Given the description of an element on the screen output the (x, y) to click on. 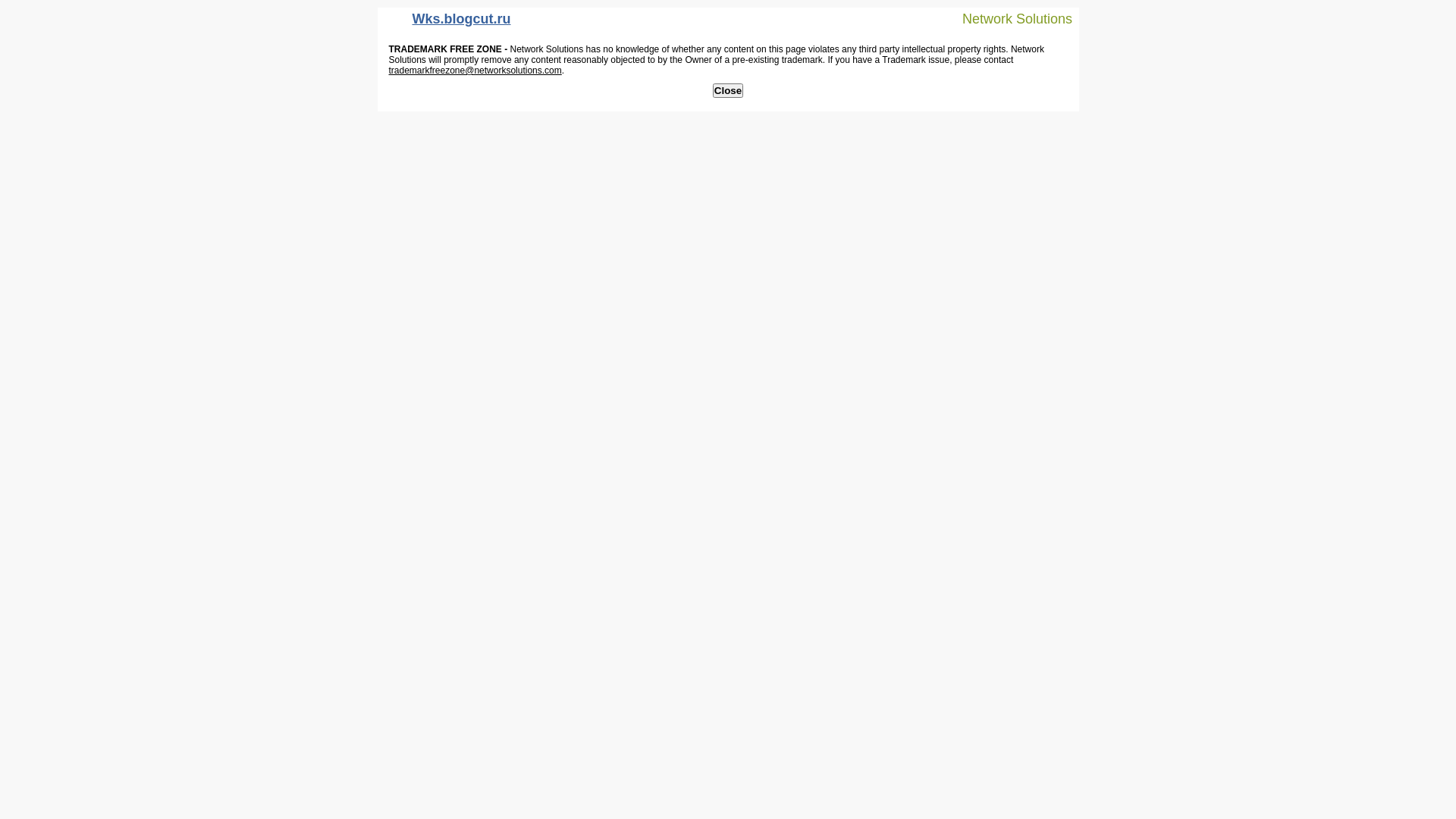
Network Solutions Element type: text (1007, 17)
trademarkfreezone@networksolutions.com Element type: text (474, 70)
Close Element type: text (727, 90)
Wks.blogcut.ru Element type: text (448, 21)
